Given the description of an element on the screen output the (x, y) to click on. 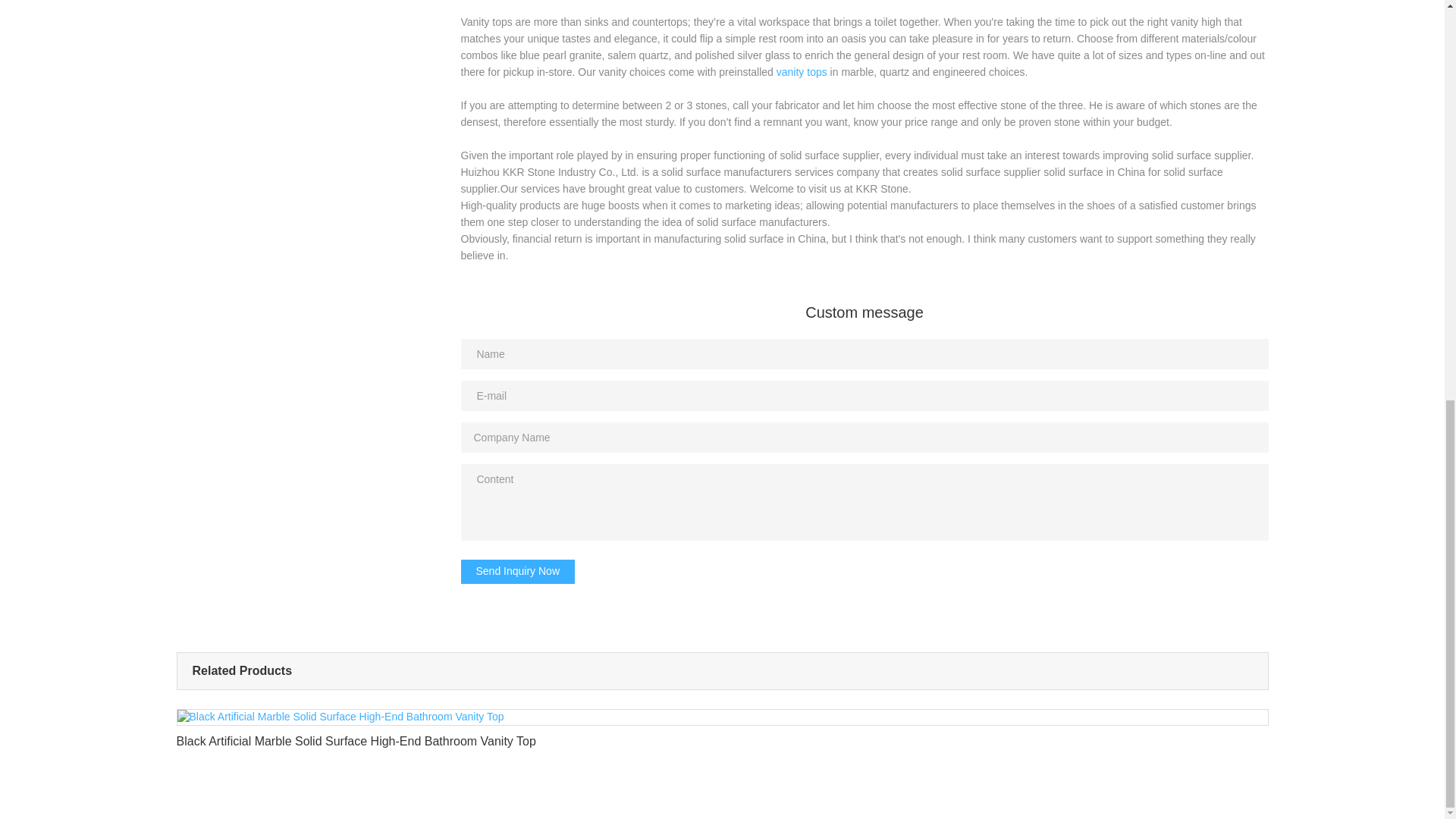
vanity tops (801, 71)
Send Inquiry Now (518, 571)
